Given the description of an element on the screen output the (x, y) to click on. 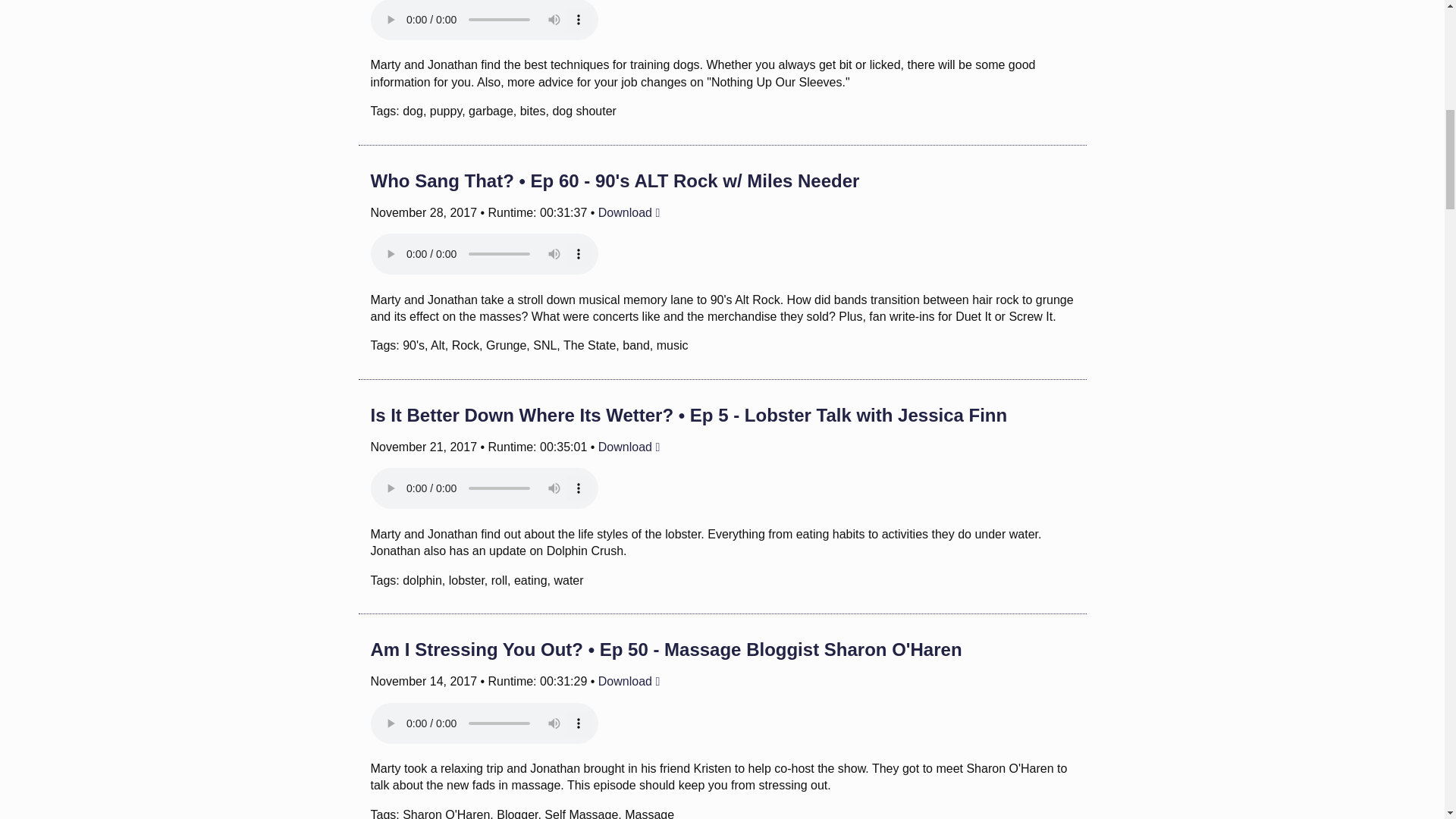
Download (628, 212)
Download (628, 680)
Download (628, 446)
